Given the description of an element on the screen output the (x, y) to click on. 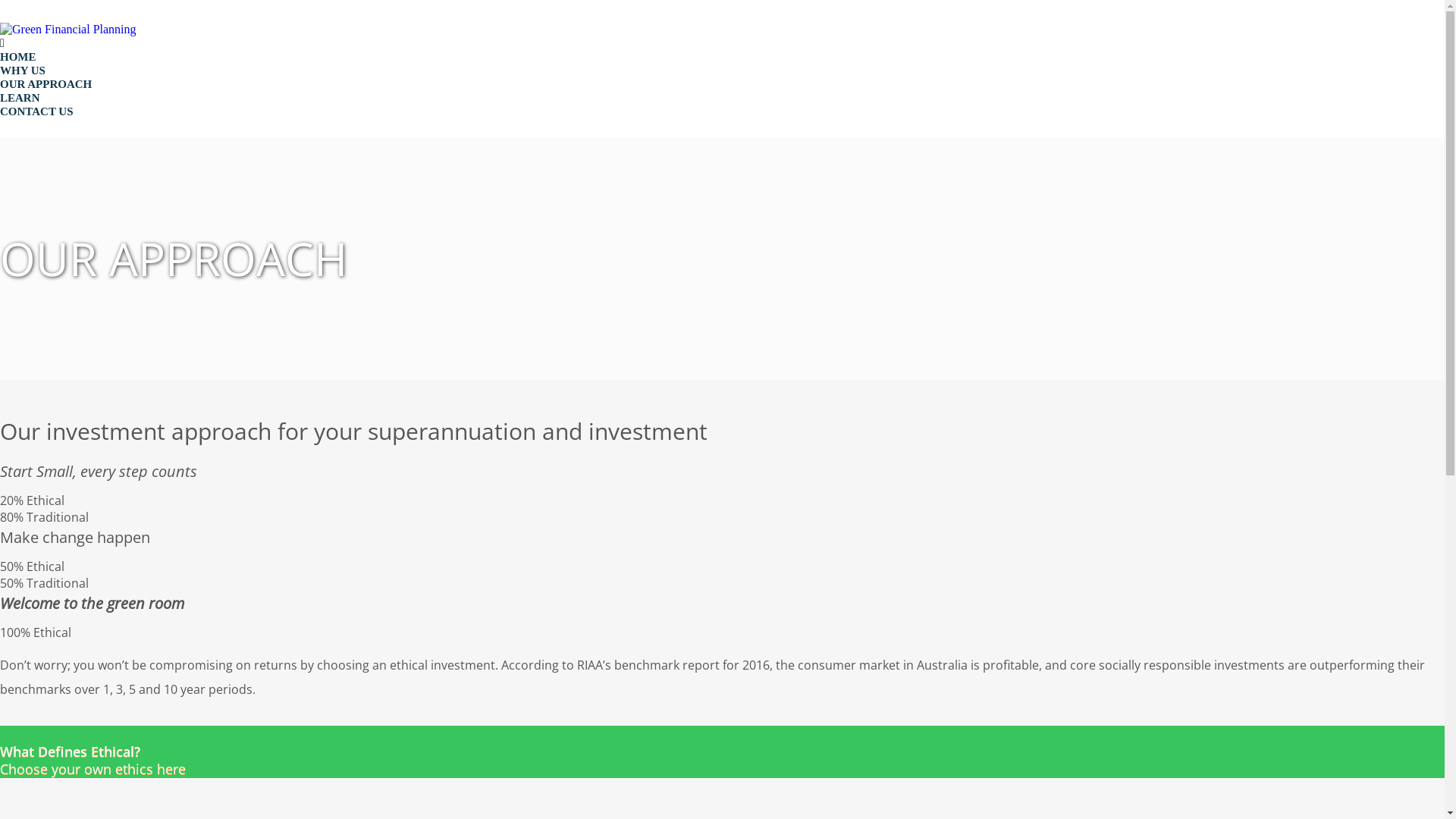
LEARN Element type: text (20, 97)
Choose your own ethics here Element type: text (722, 751)
HOME Element type: text (18, 56)
WHY US Element type: text (22, 70)
CONTACT US Element type: text (36, 111)
OUR APPROACH Element type: text (45, 84)
